Given the description of an element on the screen output the (x, y) to click on. 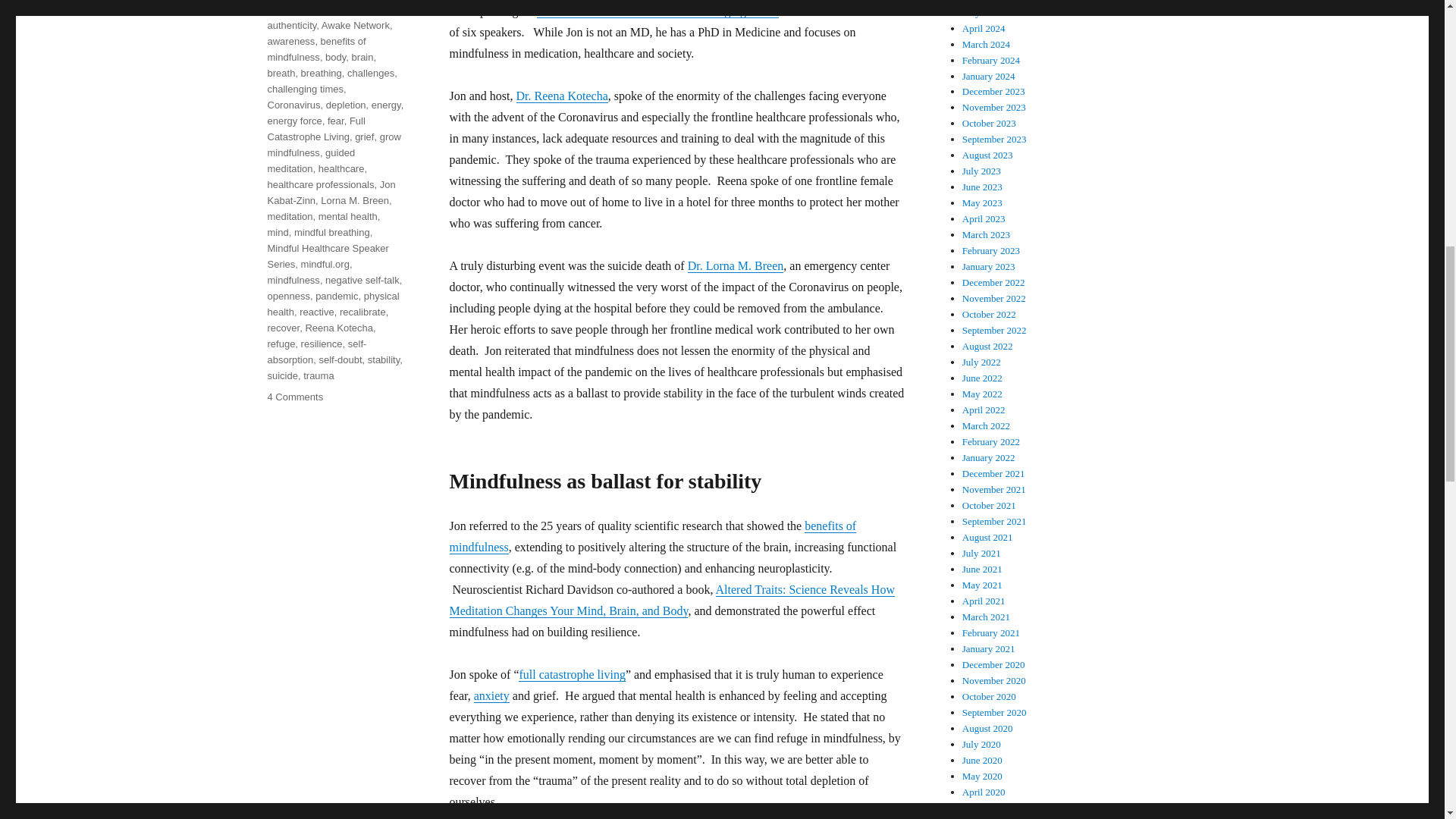
authenticity (290, 25)
full catastrophe living (571, 674)
Awake Network (355, 25)
awareness (290, 41)
brain (363, 57)
Dr. Reena Kotecha (561, 95)
benefits of mindfulness (652, 536)
Coronavirus (293, 104)
anxiety (341, 9)
challenging times (304, 89)
benefits of mindfulness (315, 49)
energy (386, 104)
altered traits (293, 9)
challenges (370, 72)
body (335, 57)
